Given the description of an element on the screen output the (x, y) to click on. 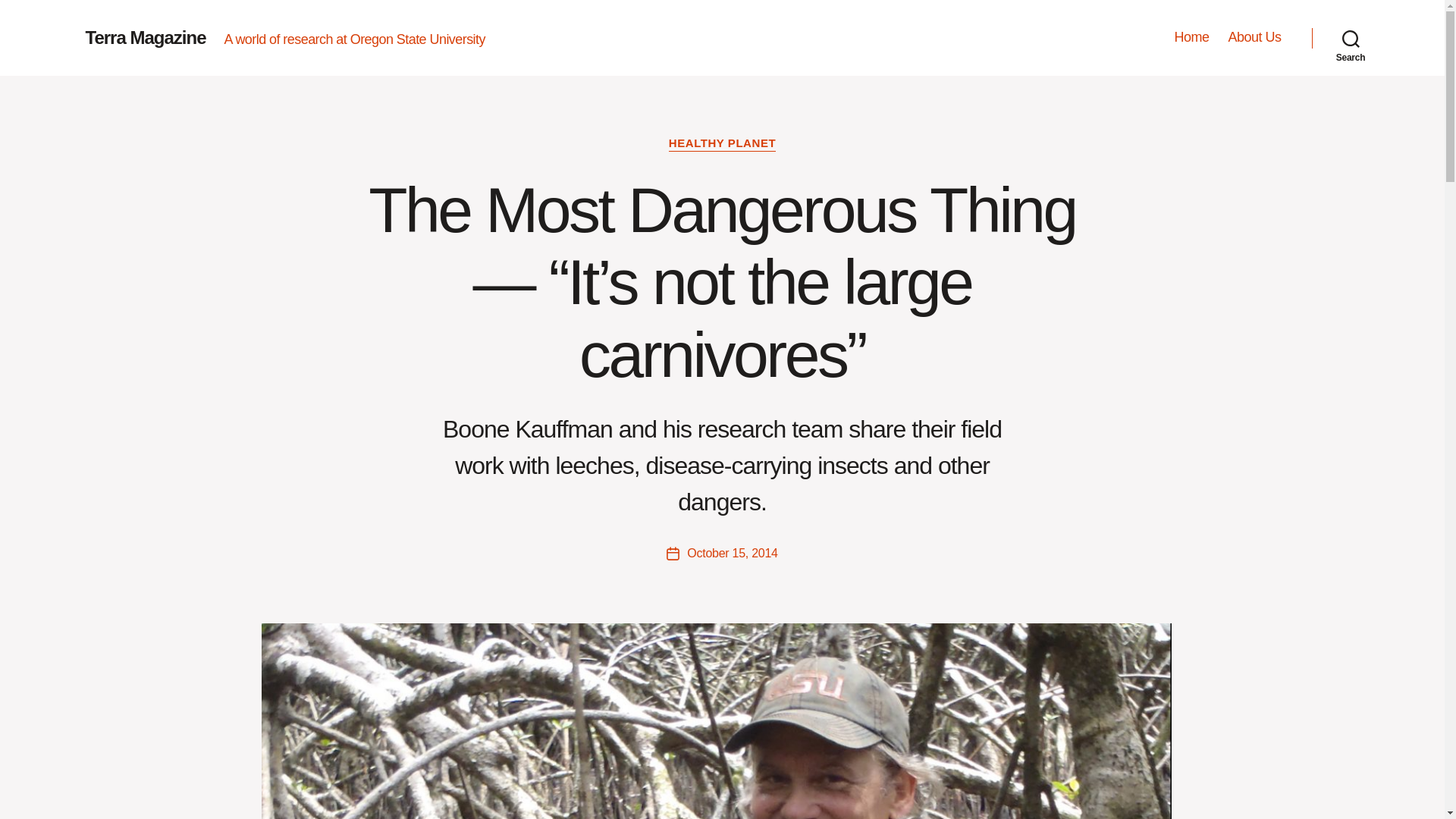
HEALTHY PLANET (722, 143)
About Us (1254, 37)
Search (1350, 37)
Home (1190, 37)
Terra Magazine (144, 37)
October 15, 2014 (732, 553)
